Given the description of an element on the screen output the (x, y) to click on. 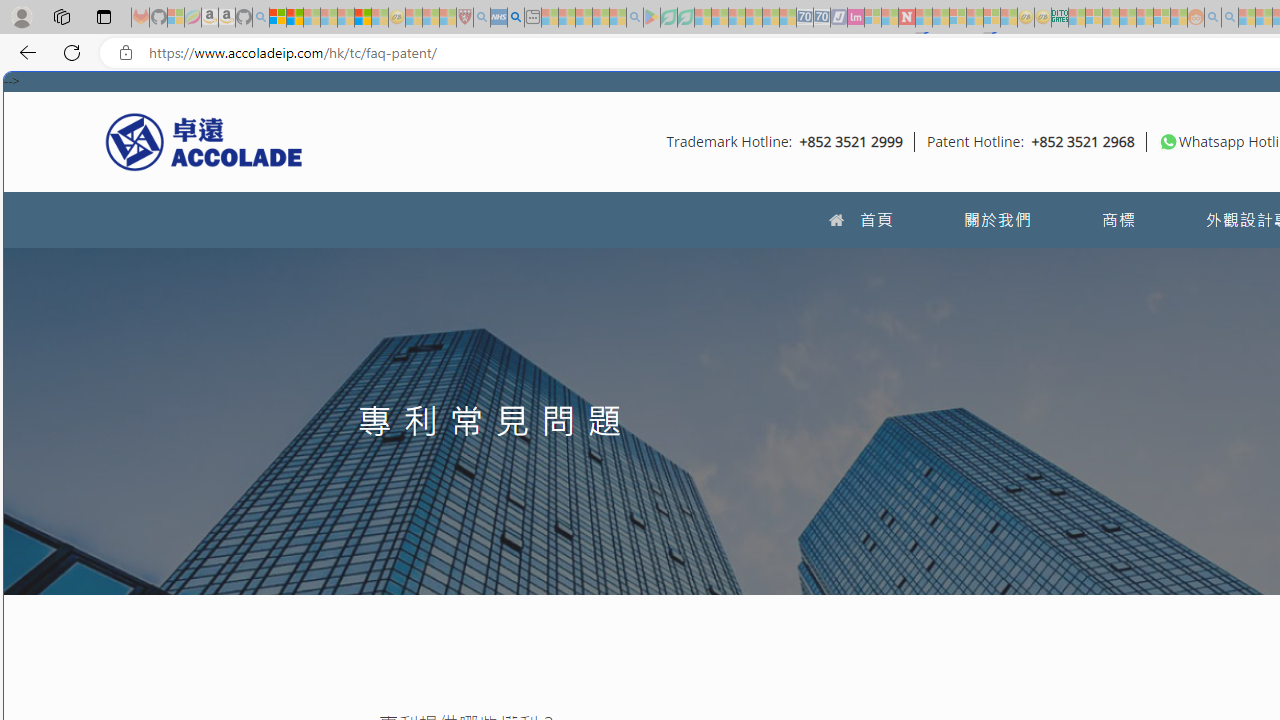
Accolade IP HK Logo (203, 141)
Local - MSN - Sleeping (447, 17)
